Given the description of an element on the screen output the (x, y) to click on. 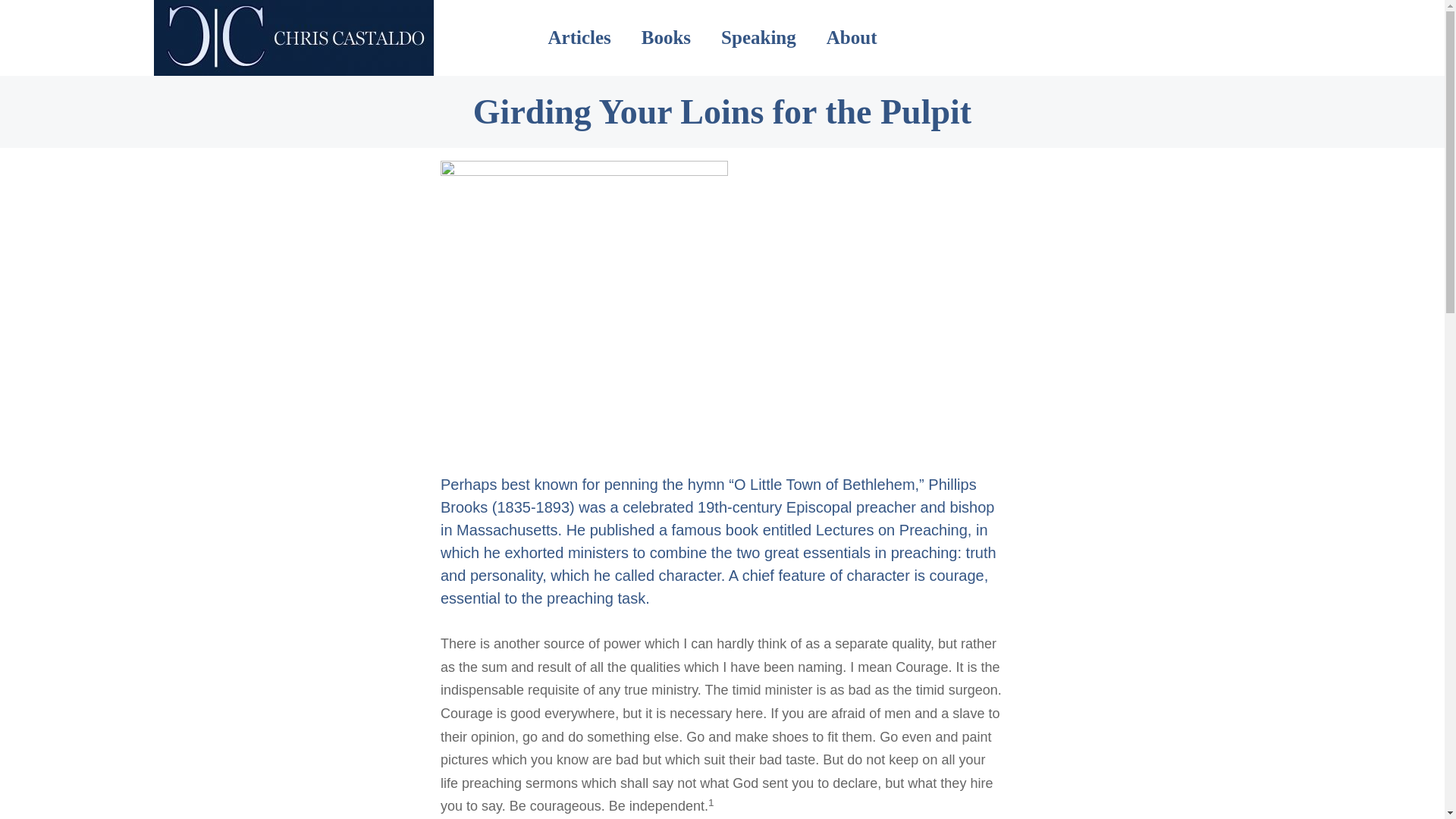
Speaking (758, 37)
Chris Castaldo Logo ice blue wide copy (292, 38)
Articles (579, 37)
About (851, 37)
Books (666, 37)
